Given the description of an element on the screen output the (x, y) to click on. 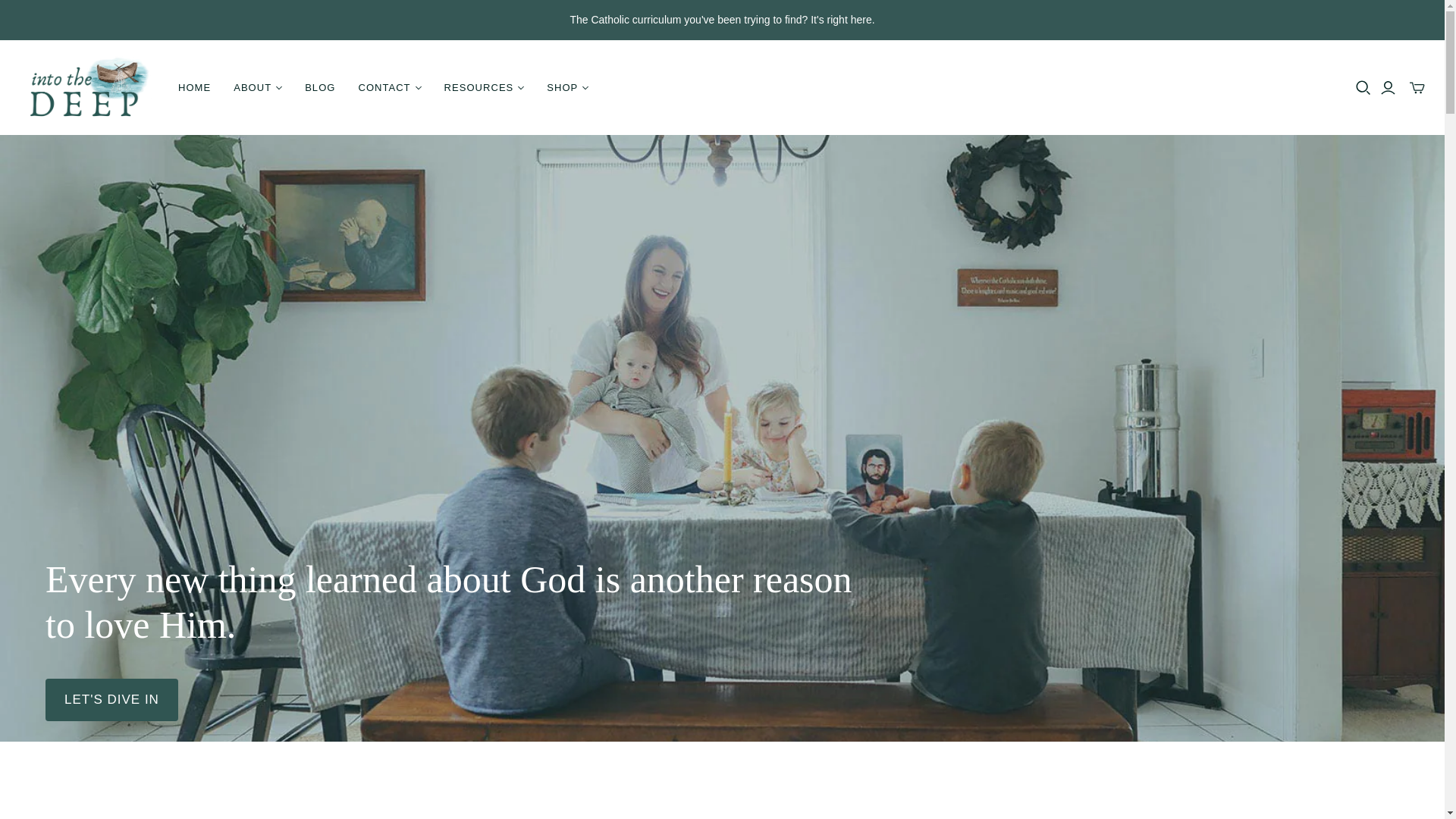
BLOG (320, 87)
HOME (194, 87)
Shop (111, 699)
